Given the description of an element on the screen output the (x, y) to click on. 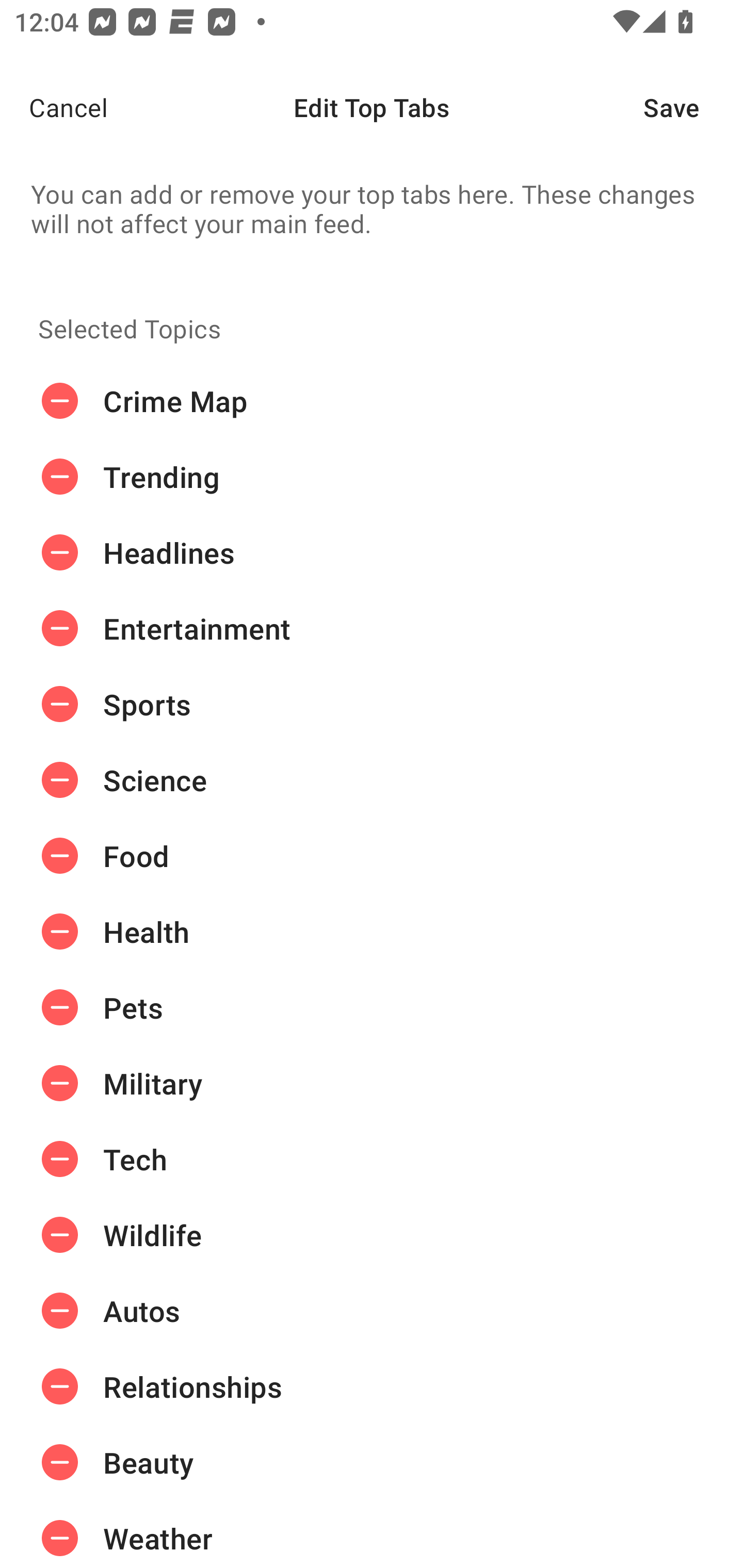
Cancel (53, 106)
Save (693, 106)
Crime Map (371, 401)
Trending (371, 476)
Headlines (371, 552)
Entertainment (371, 628)
Sports (371, 703)
Science (371, 779)
Food (371, 855)
Health (371, 931)
Pets (371, 1007)
Military (371, 1083)
Tech (371, 1158)
Wildlife (371, 1234)
Autos (371, 1310)
Relationships (371, 1386)
Beauty (371, 1462)
Weather (371, 1534)
